Given the description of an element on the screen output the (x, y) to click on. 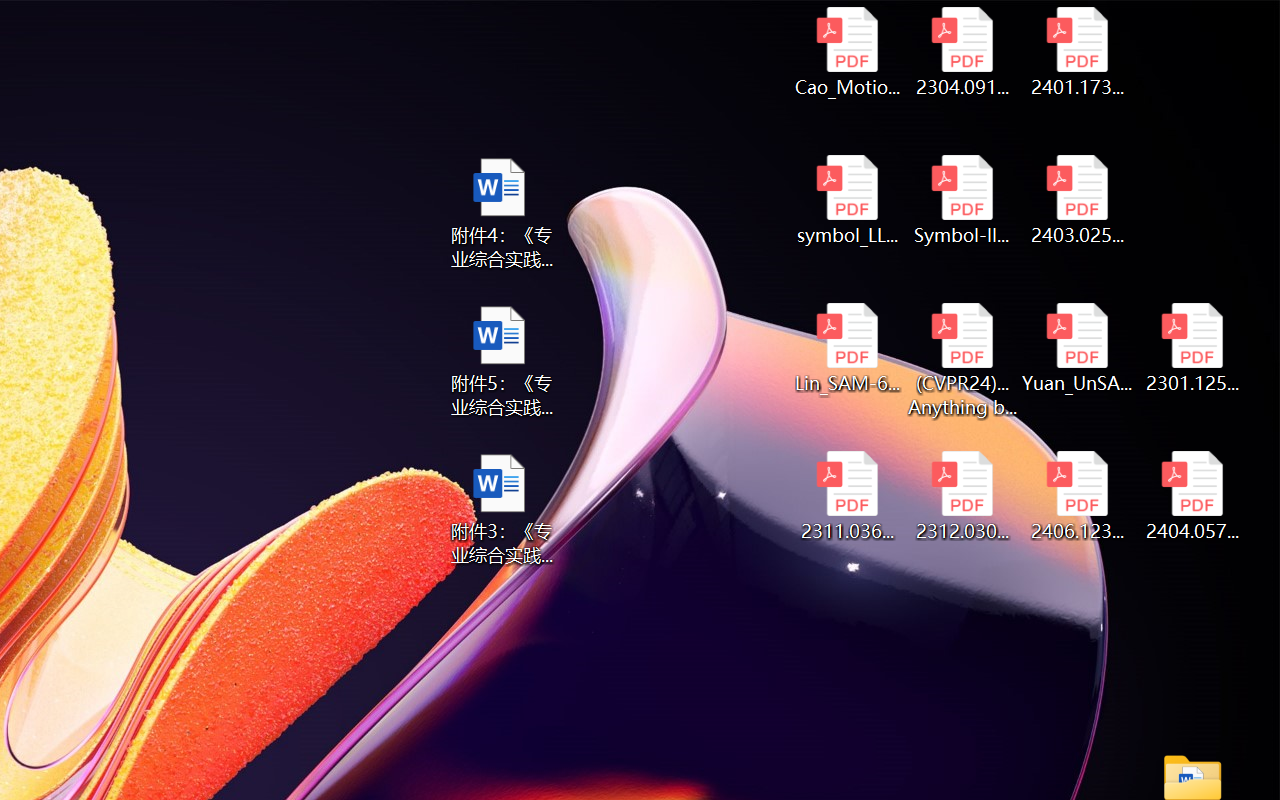
2404.05719v1.pdf (1192, 496)
